Given the description of an element on the screen output the (x, y) to click on. 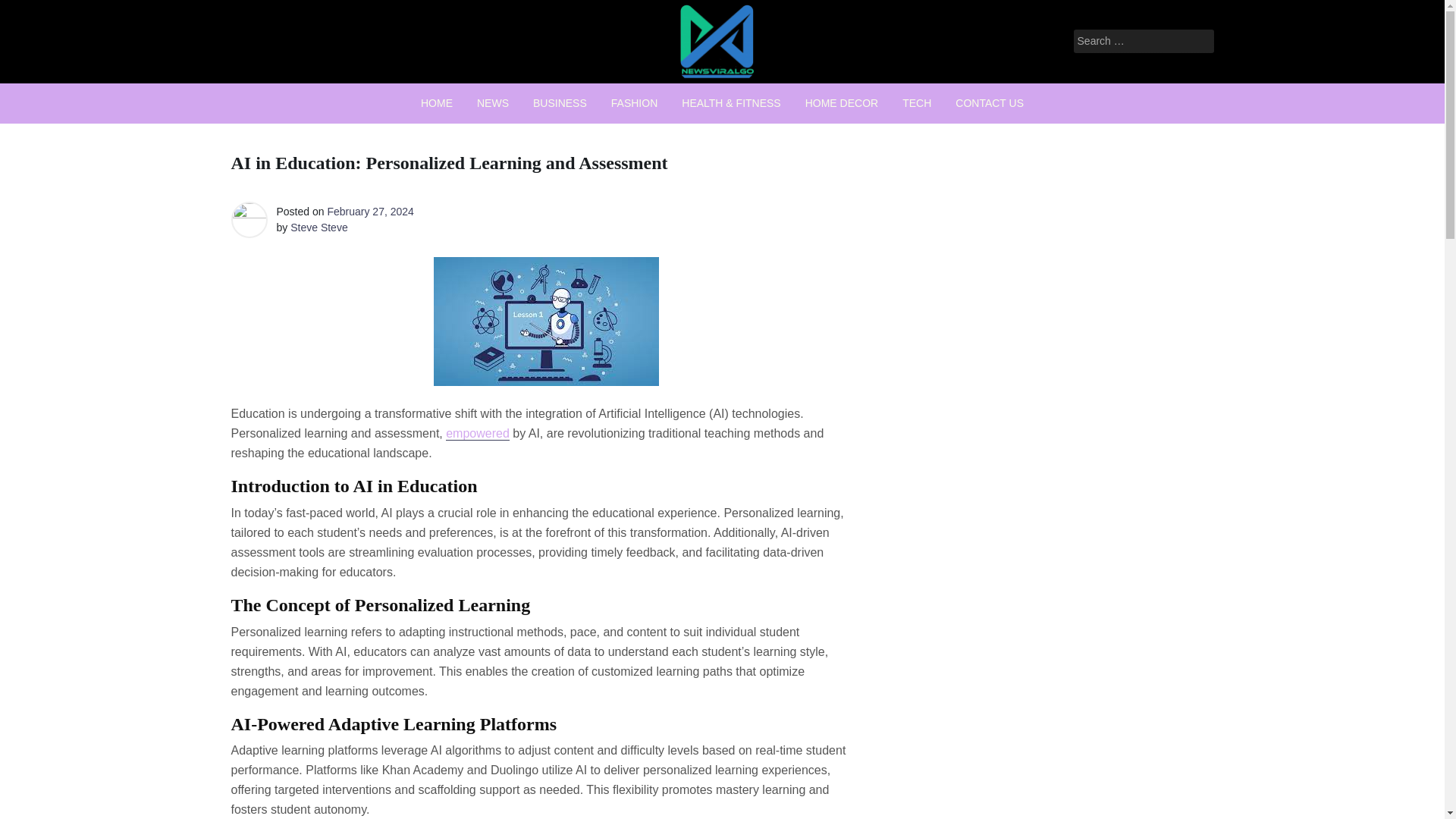
HOME (436, 103)
NEWS (492, 103)
NewsViralGo (645, 98)
HOME DECOR (841, 103)
BUSINESS (559, 103)
CONTACT US (989, 103)
February 27, 2024 (369, 211)
FASHION (633, 103)
Search (32, 12)
TECH (916, 103)
